Given the description of an element on the screen output the (x, y) to click on. 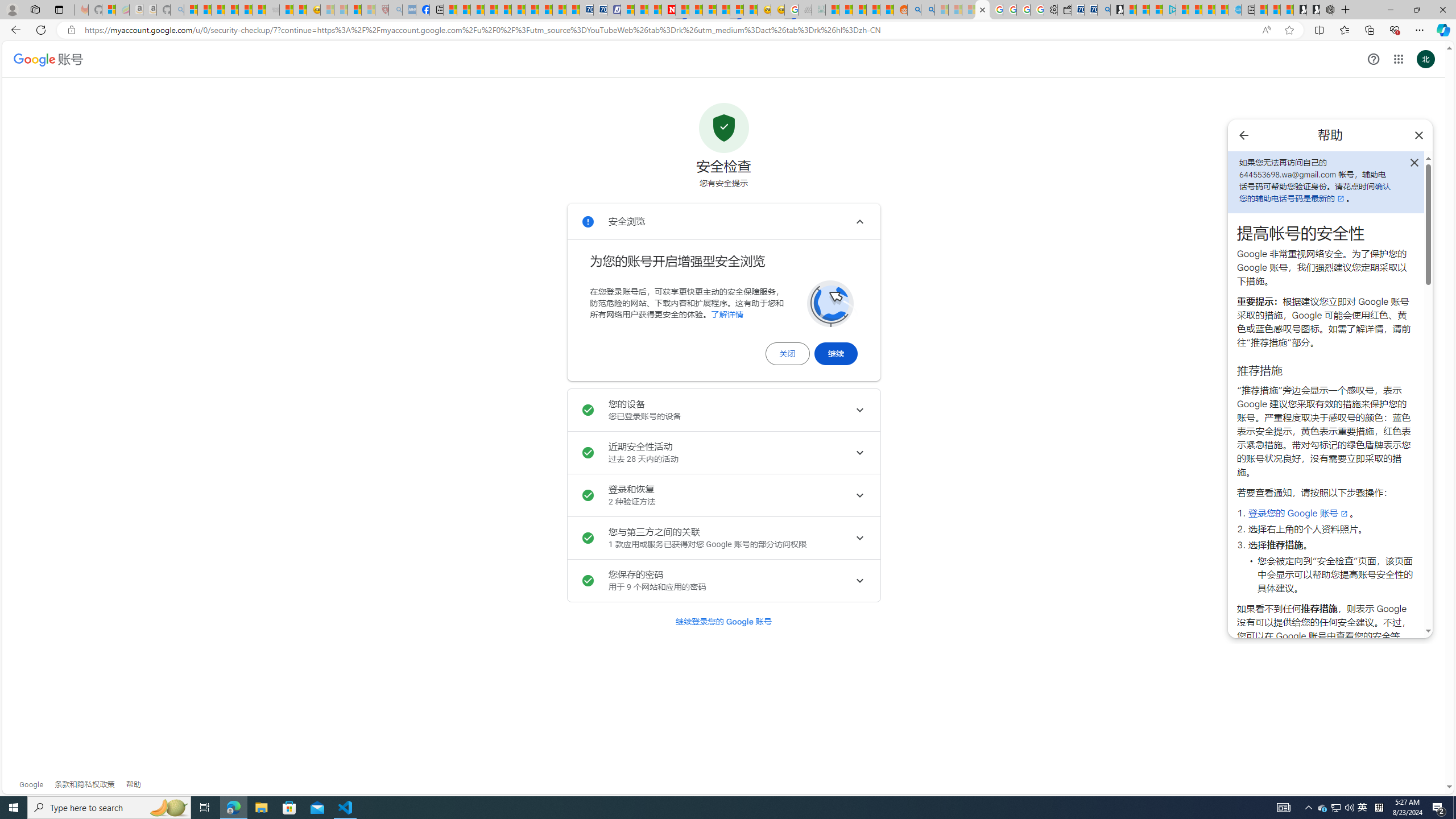
Wallet (1063, 9)
